Given the description of an element on the screen output the (x, y) to click on. 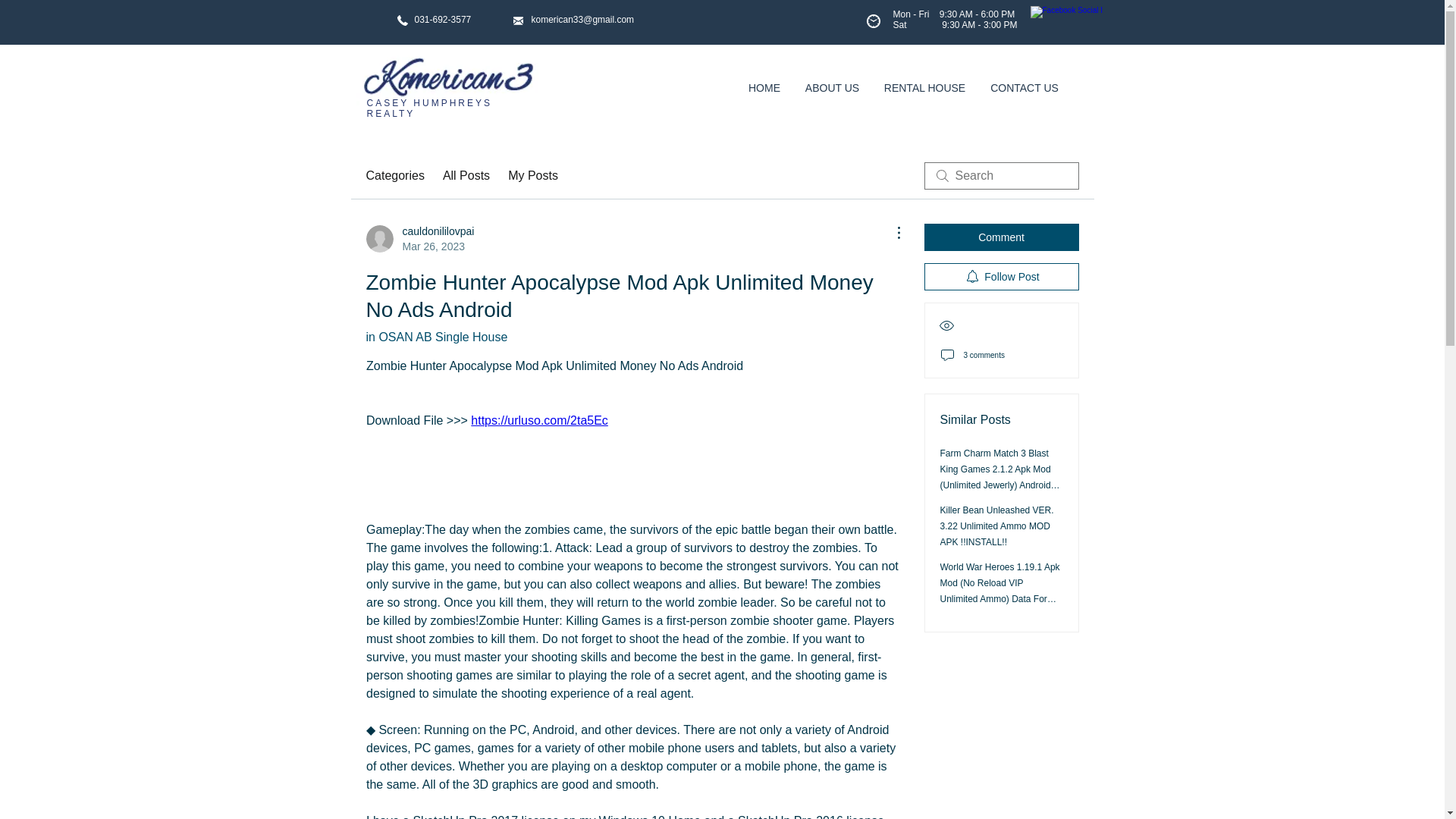
in OSAN AB Single House (435, 336)
CONTACT US (1024, 88)
My Posts (532, 176)
RENTAL HOUSE (925, 88)
ABOUT US (832, 88)
Categories (419, 238)
All Posts (394, 176)
HOME (465, 176)
